Given the description of an element on the screen output the (x, y) to click on. 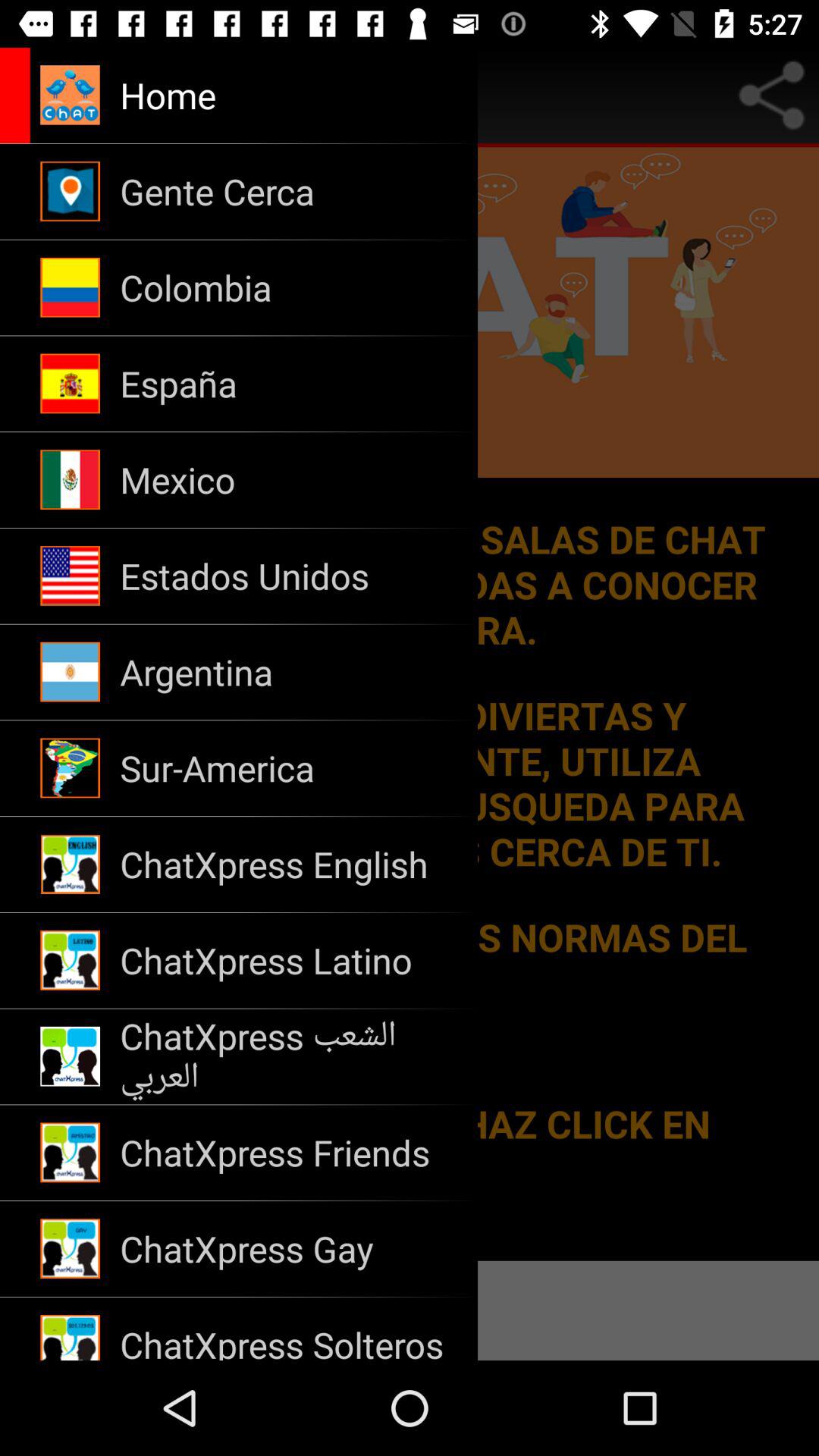
jump until the chatxpress solteros item (288, 1328)
